Given the description of an element on the screen output the (x, y) to click on. 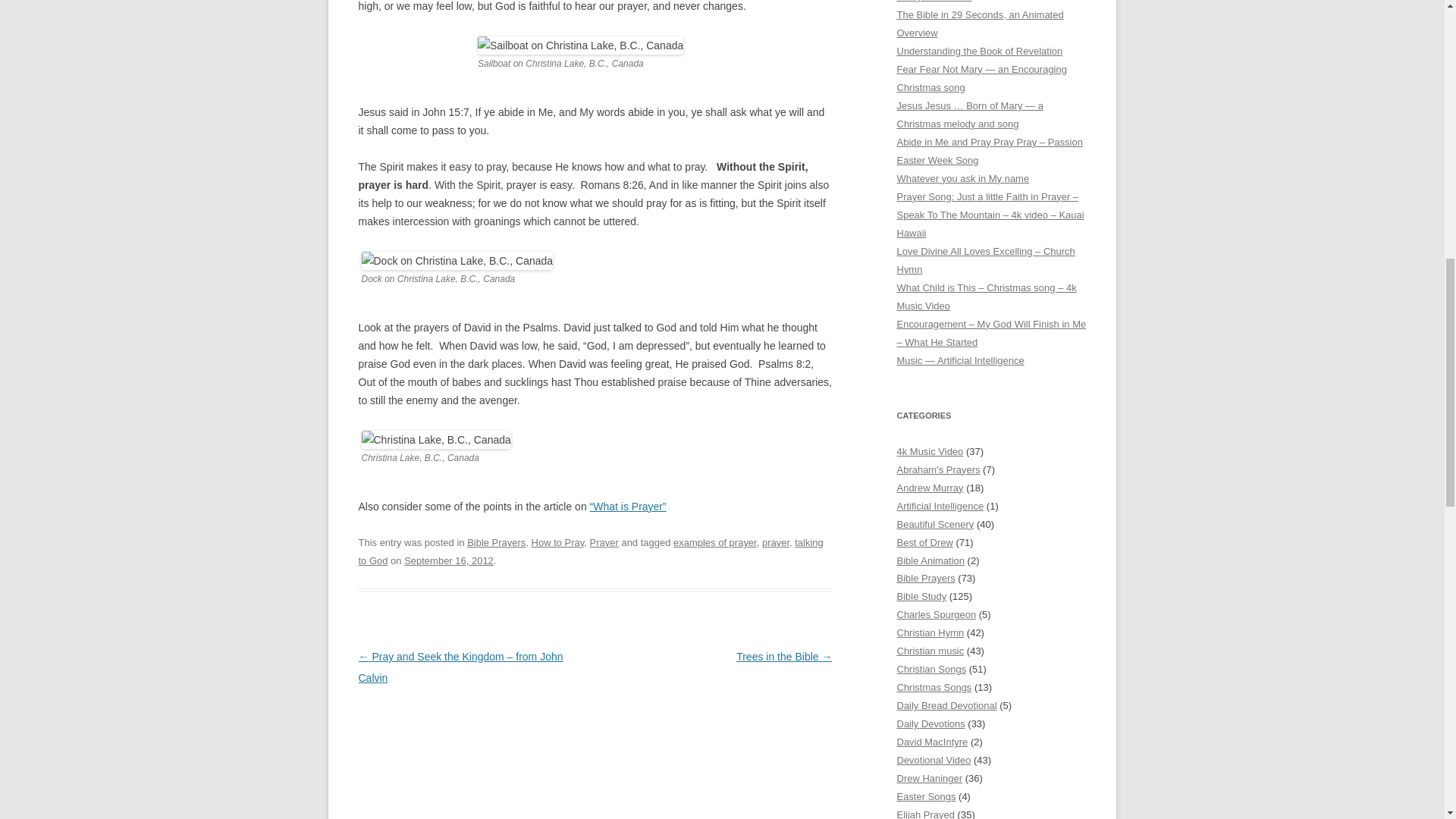
prayer (775, 542)
Bible Prayers (496, 542)
Sailboat on Christina Lake, B.C., Canada (579, 45)
examples of prayer (714, 542)
How to Pray (558, 542)
What is Prayer (627, 506)
Dock on Christina Lake, B.C., Canada (457, 260)
Christina Lake, B.C., Canada (436, 439)
Prayer (603, 542)
September 16, 2012 (448, 560)
